Given the description of an element on the screen output the (x, y) to click on. 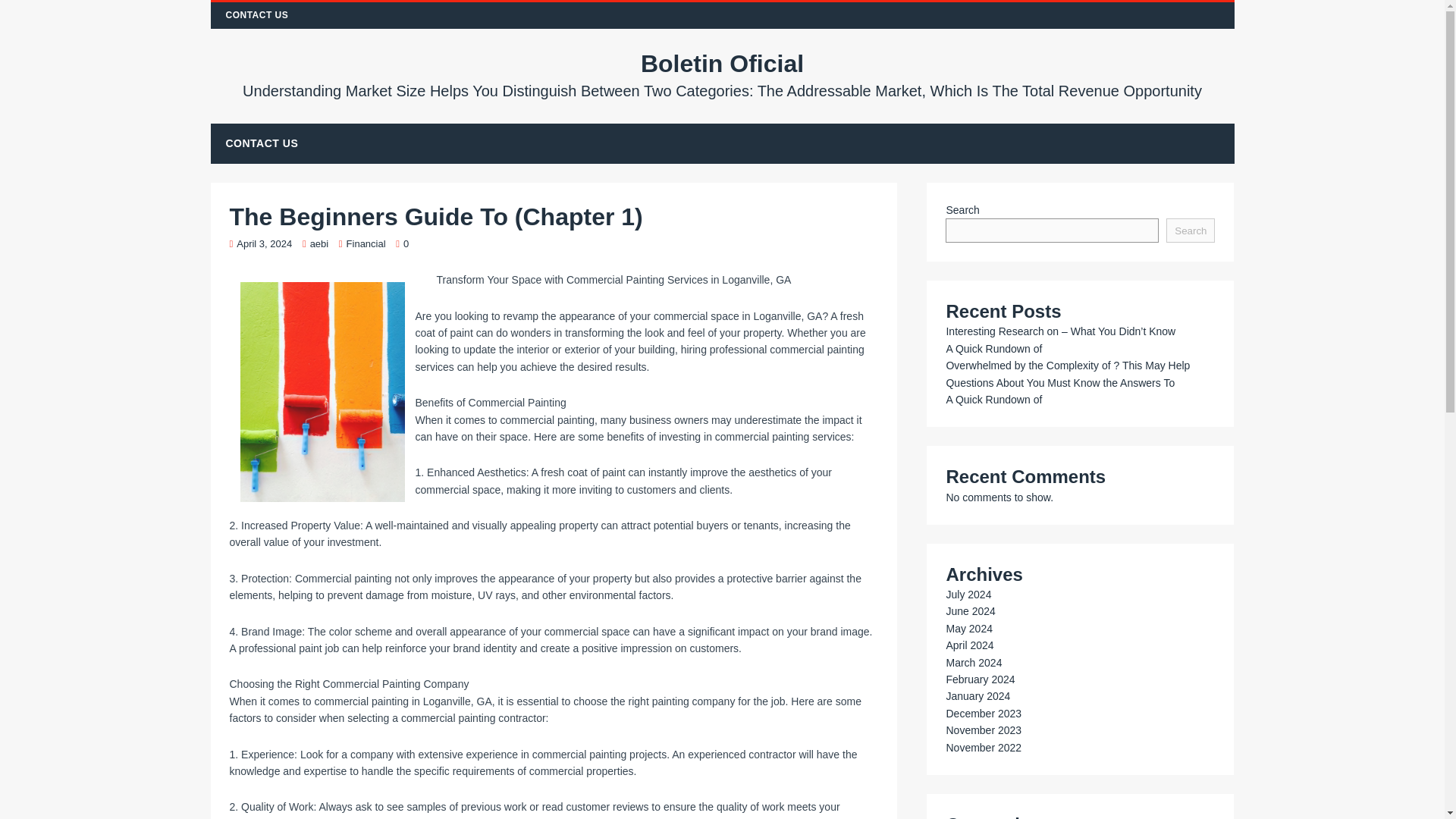
June 2024 (969, 611)
November 2023 (983, 729)
January 2024 (977, 695)
May 2024 (967, 628)
aebi (319, 243)
Financial (365, 243)
December 2023 (983, 713)
0 (406, 243)
February 2024 (979, 679)
Search (1190, 230)
Overwhelmed by the Complexity of ? This May Help (1066, 365)
Questions About You Must Know the Answers To (1059, 382)
CONTACT US (257, 15)
0 (406, 243)
April 3, 2024 (263, 243)
